Given the description of an element on the screen output the (x, y) to click on. 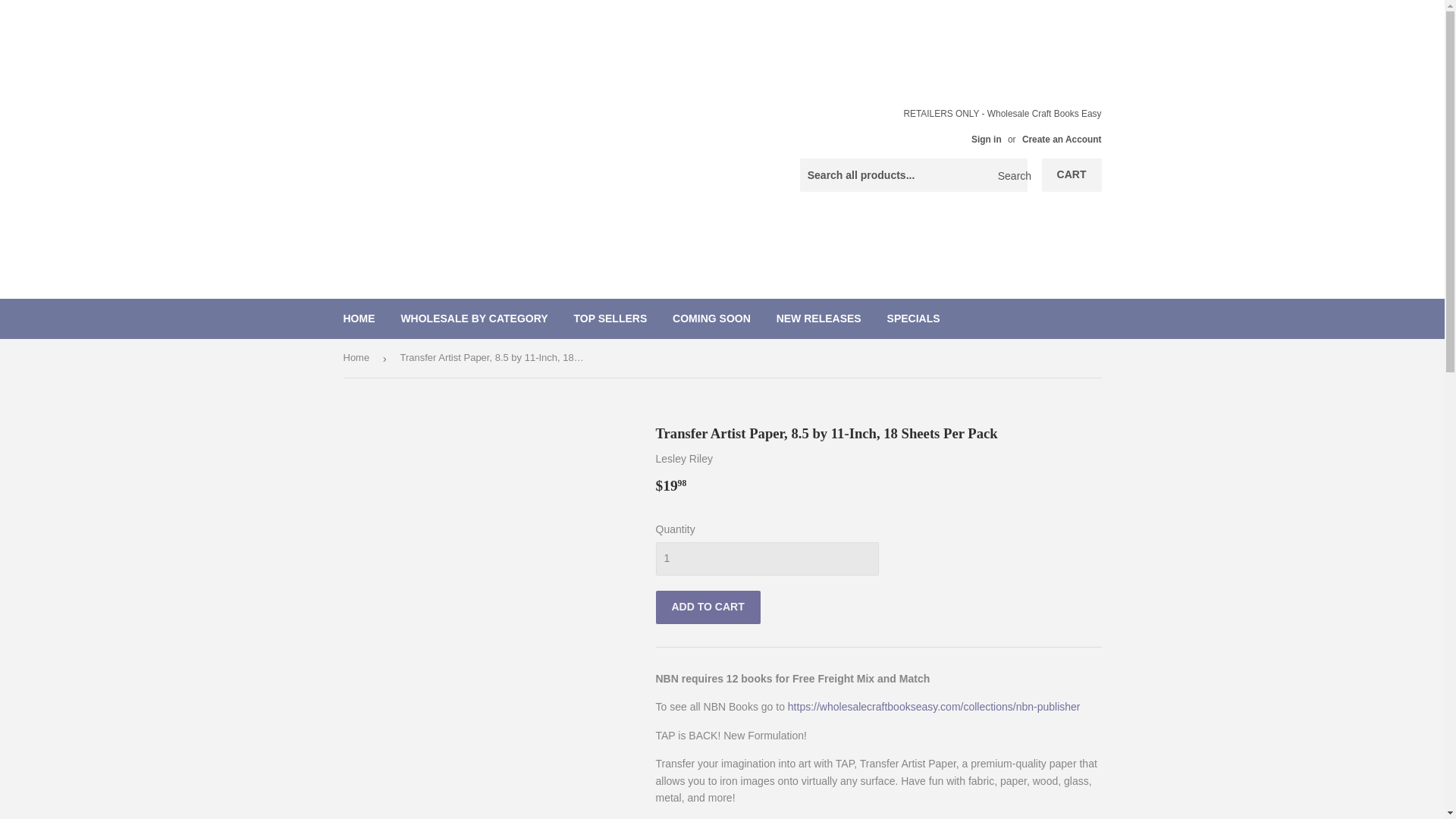
Home (358, 358)
Search (1009, 175)
ADD TO CART (707, 607)
SPECIALS (914, 318)
CART (1072, 174)
Sign in (986, 139)
1 (766, 558)
WHOLESALE BY CATEGORY (473, 318)
COMING SOON (711, 318)
TOP SELLERS (610, 318)
Create an Account (1062, 139)
Back to the frontpage (358, 358)
HOME (359, 318)
NEW RELEASES (818, 318)
